Given the description of an element on the screen output the (x, y) to click on. 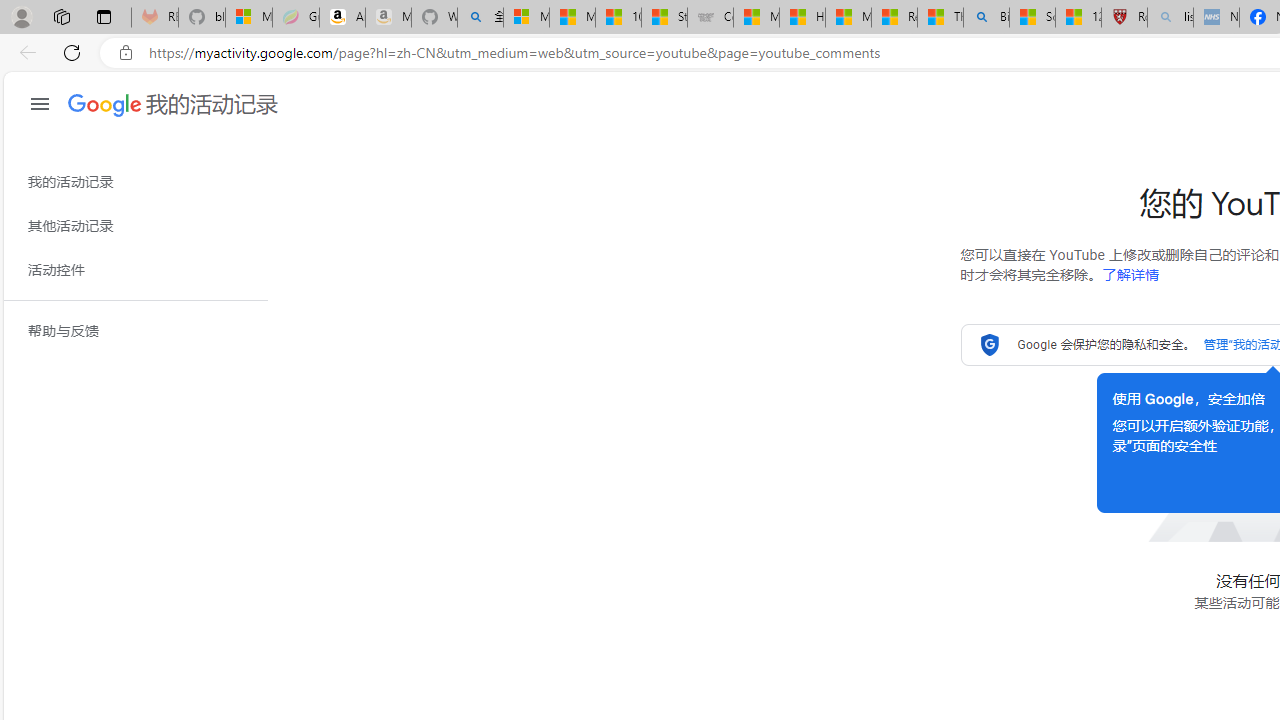
Recipes - MSN (893, 17)
Microsoft-Report a Concern to Bing (249, 17)
Robert H. Shmerling, MD - Harvard Health (1124, 17)
12 Popular Science Lies that Must be Corrected (1078, 17)
Stocks - MSN (664, 17)
